Given the description of an element on the screen output the (x, y) to click on. 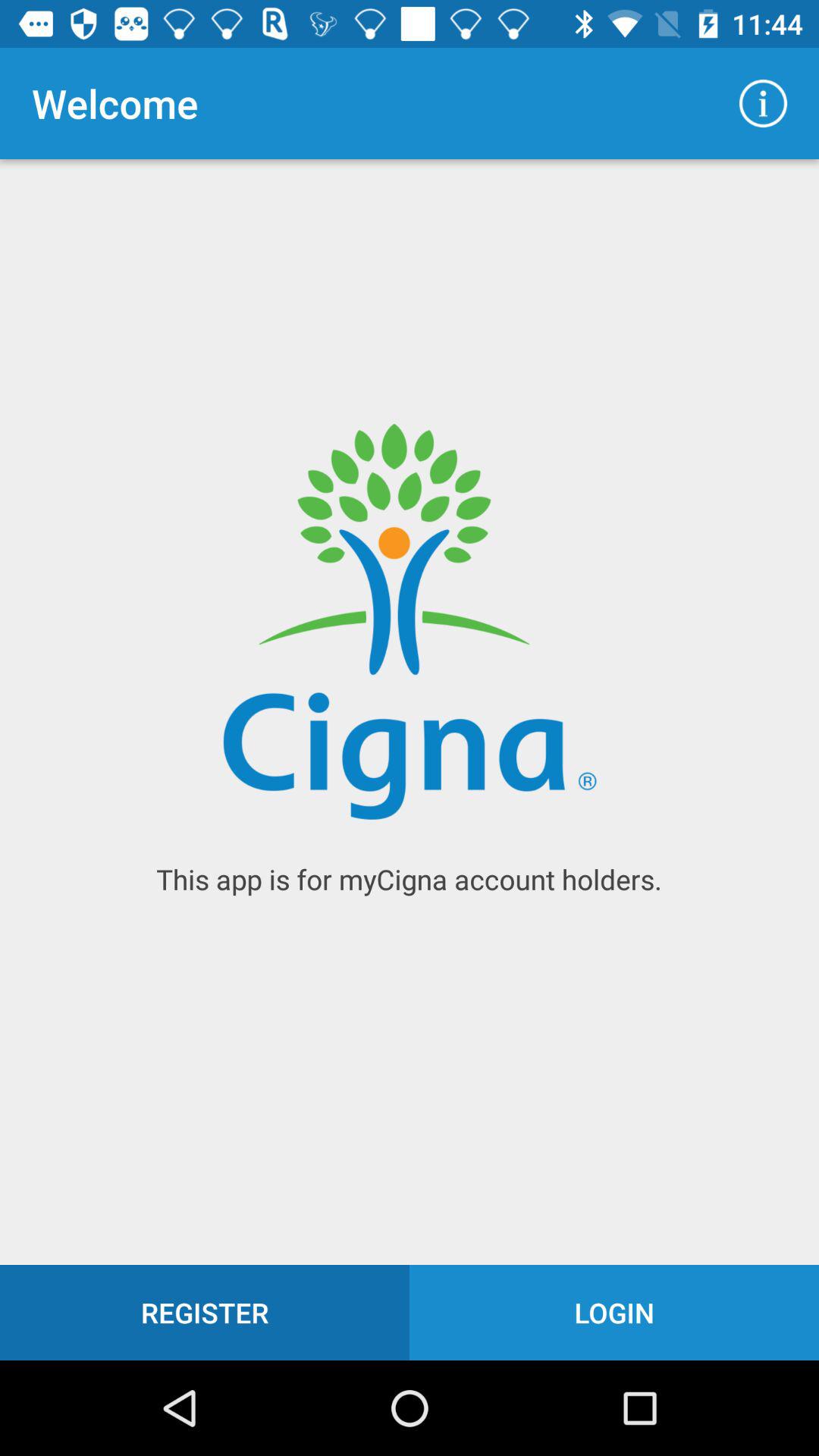
tap icon to the left of the login item (204, 1312)
